Given the description of an element on the screen output the (x, y) to click on. 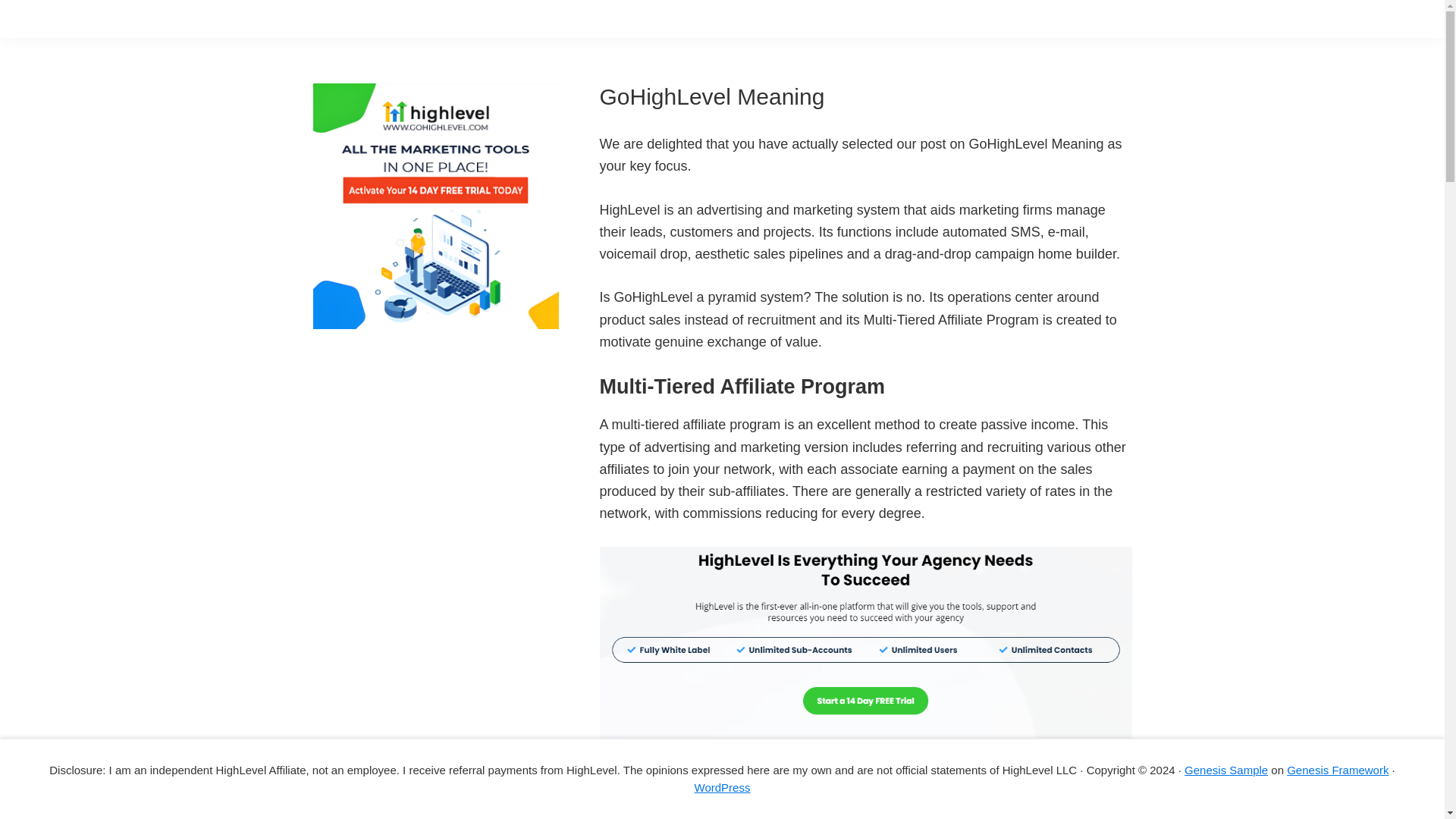
Genesis Sample (1226, 769)
WordPress (722, 787)
Genesis Framework (1338, 769)
